Given the description of an element on the screen output the (x, y) to click on. 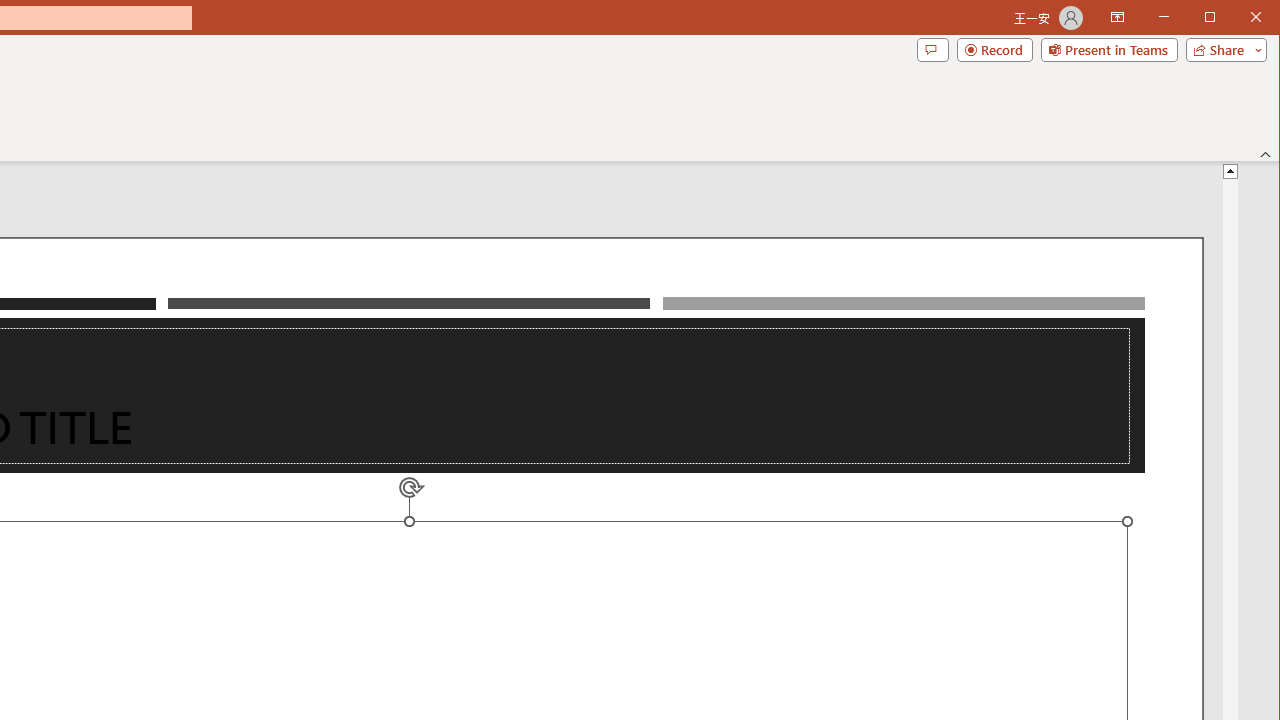
Close (1261, 18)
Minimize (1216, 18)
Record (994, 49)
Present in Teams (1108, 49)
Comments (932, 49)
Line up (1230, 170)
Collapse the Ribbon (1266, 154)
Ribbon Display Options (1117, 17)
Maximize (1238, 18)
Share (1222, 49)
